Given the description of an element on the screen output the (x, y) to click on. 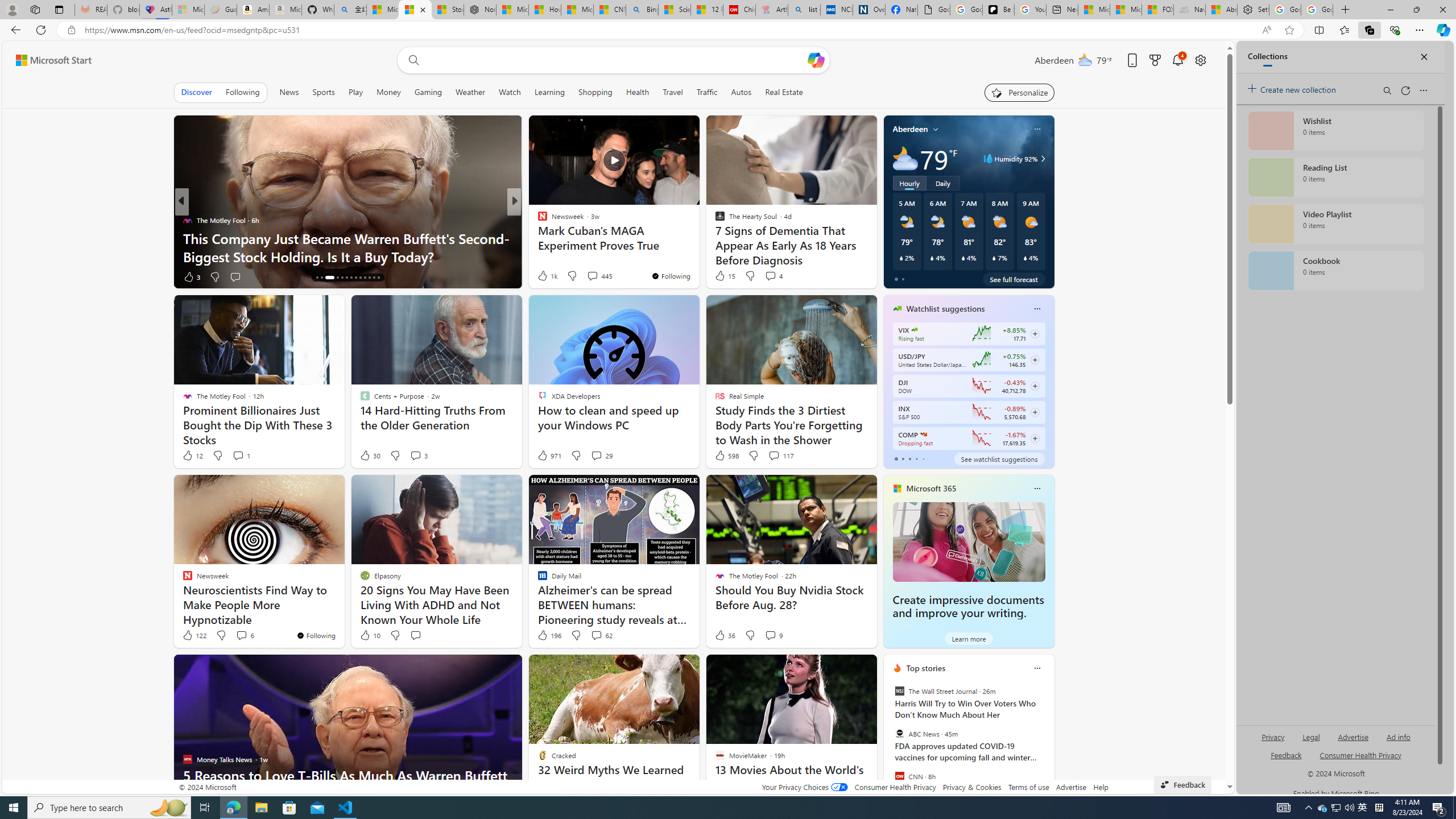
View comments 30 Comment (589, 276)
AutomationID: tab-22 (360, 277)
View comments 40 Comment (597, 276)
Newsweek (537, 219)
Personalize your feed" (1019, 92)
1k Like (546, 275)
Constative (537, 219)
View comments 9 Comment (773, 634)
AutomationID: sb_feedback (1286, 754)
AutomationID: tab-16 (328, 277)
AutomationID: tab-23 (364, 277)
